Given the description of an element on the screen output the (x, y) to click on. 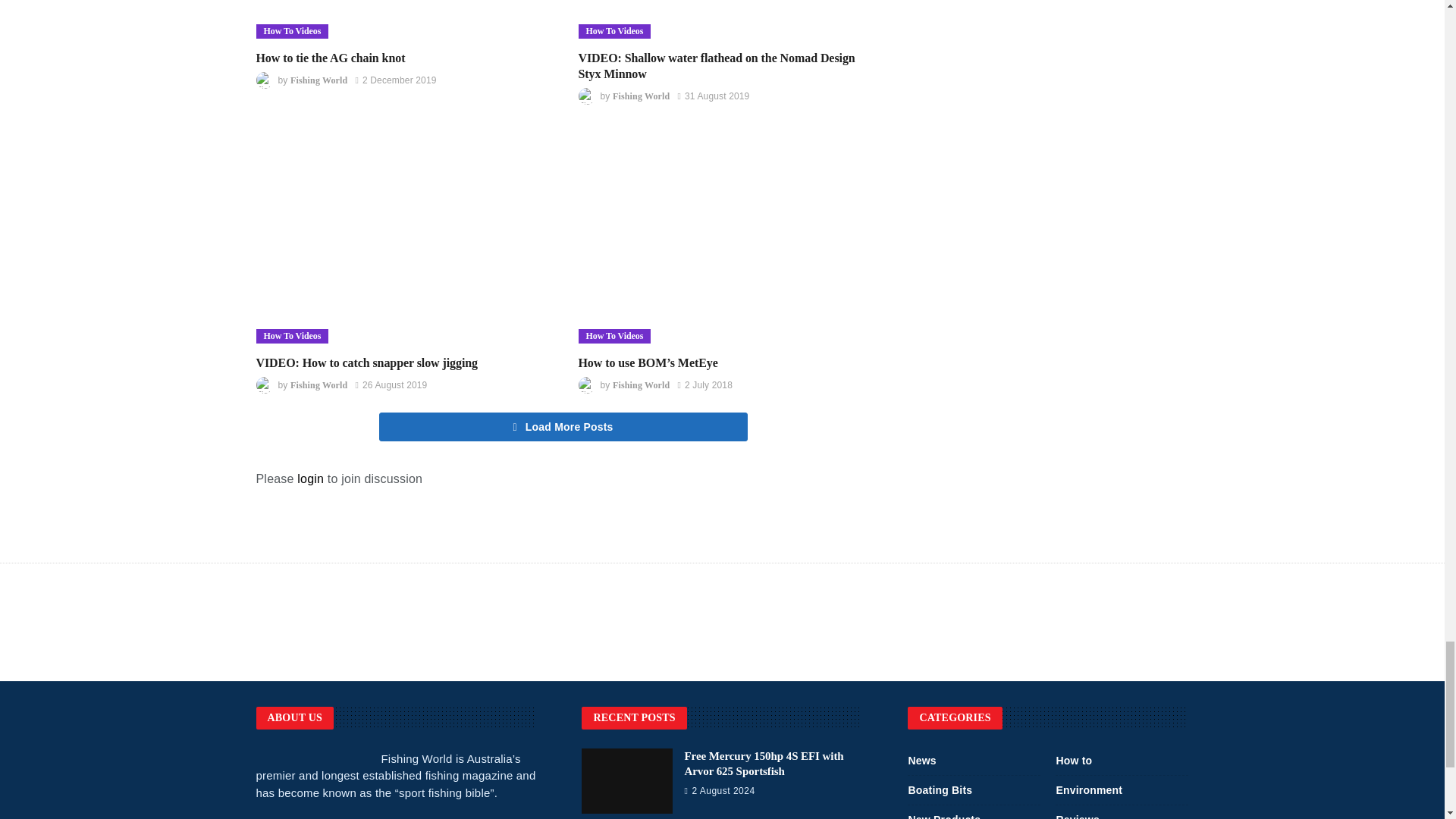
Free Mercury 150hp 4S EFI with Arvor 625 Sportsfish (626, 781)
VIDEO: How to catch snapper slow jigging (402, 239)
How to tie the AG chain knot (402, 19)
How to tie the AG chain knot (331, 57)
Load More Posts (563, 426)
Free Mercury 150hp 4S EFI with Arvor 625 Sportsfish (763, 763)
VIDEO: How to catch snapper slow jigging (367, 362)
